Given the description of an element on the screen output the (x, y) to click on. 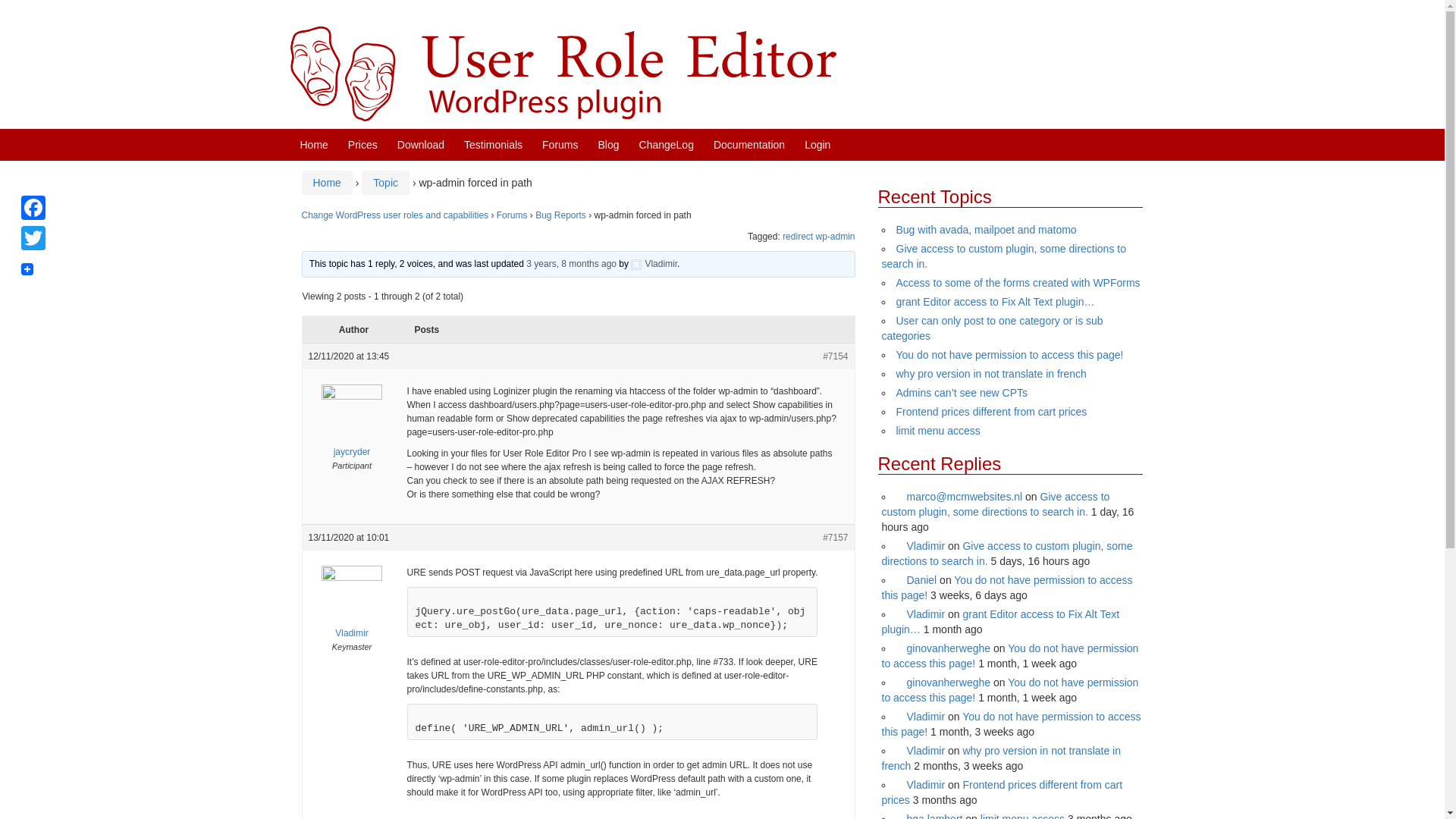
Home (314, 144)
Give access to custom plugin, some directions to search in. (1002, 256)
Frontend prices different from cart prices (991, 411)
Give access to custom plugin, some directions to search in. (1006, 553)
Blog (609, 144)
Forums (559, 144)
Vladimir (920, 545)
Download (420, 144)
ChangeLog (666, 144)
redirect wp-admin (818, 235)
jaycryder (350, 431)
Documentation (748, 144)
Topic (384, 182)
3 years, 8 months ago (570, 263)
